Given the description of an element on the screen output the (x, y) to click on. 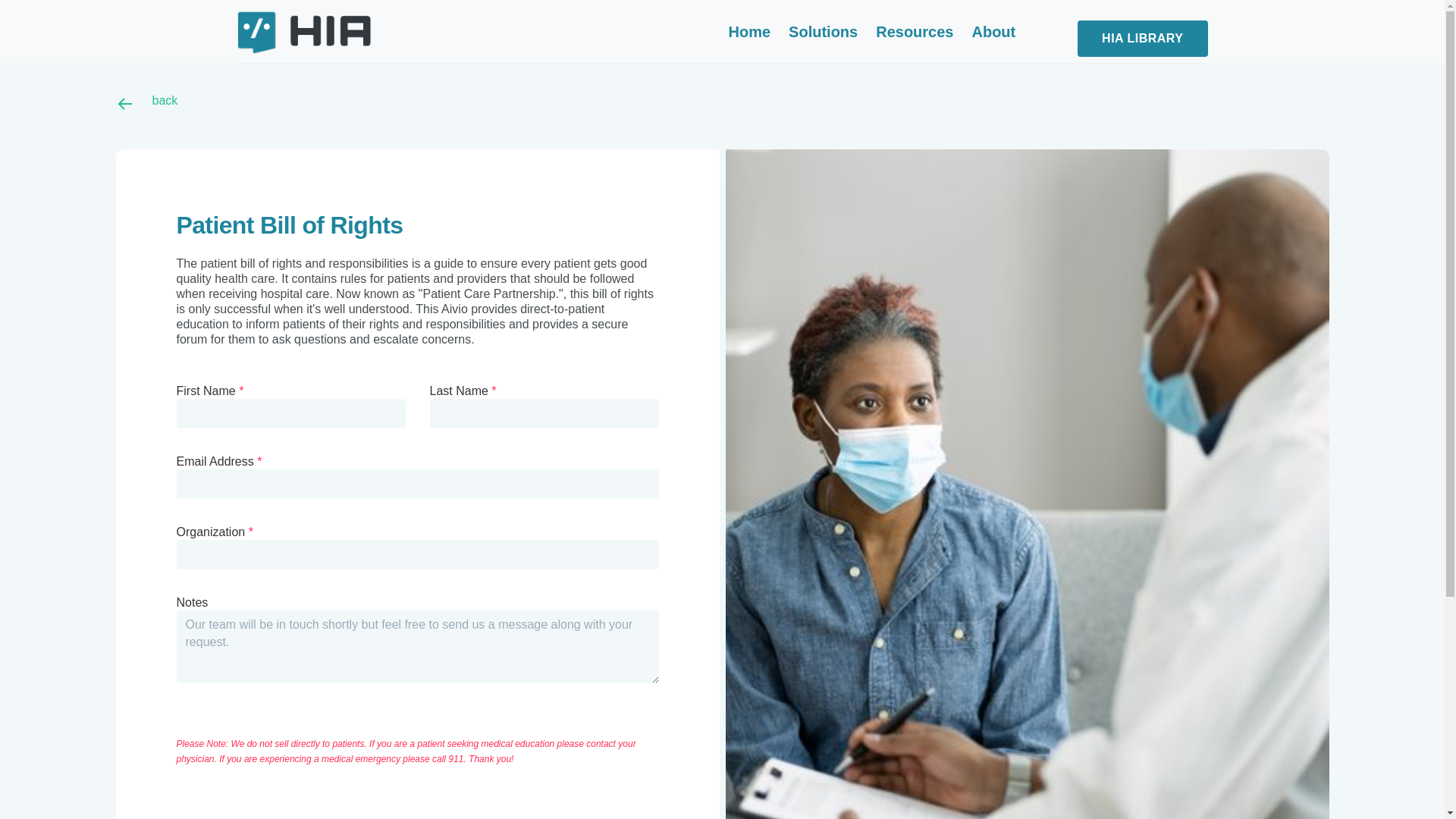
Solutions (823, 30)
HIA LIBRARY (1142, 38)
About (992, 30)
Home (749, 30)
Resources (914, 30)
back (721, 104)
